Given the description of an element on the screen output the (x, y) to click on. 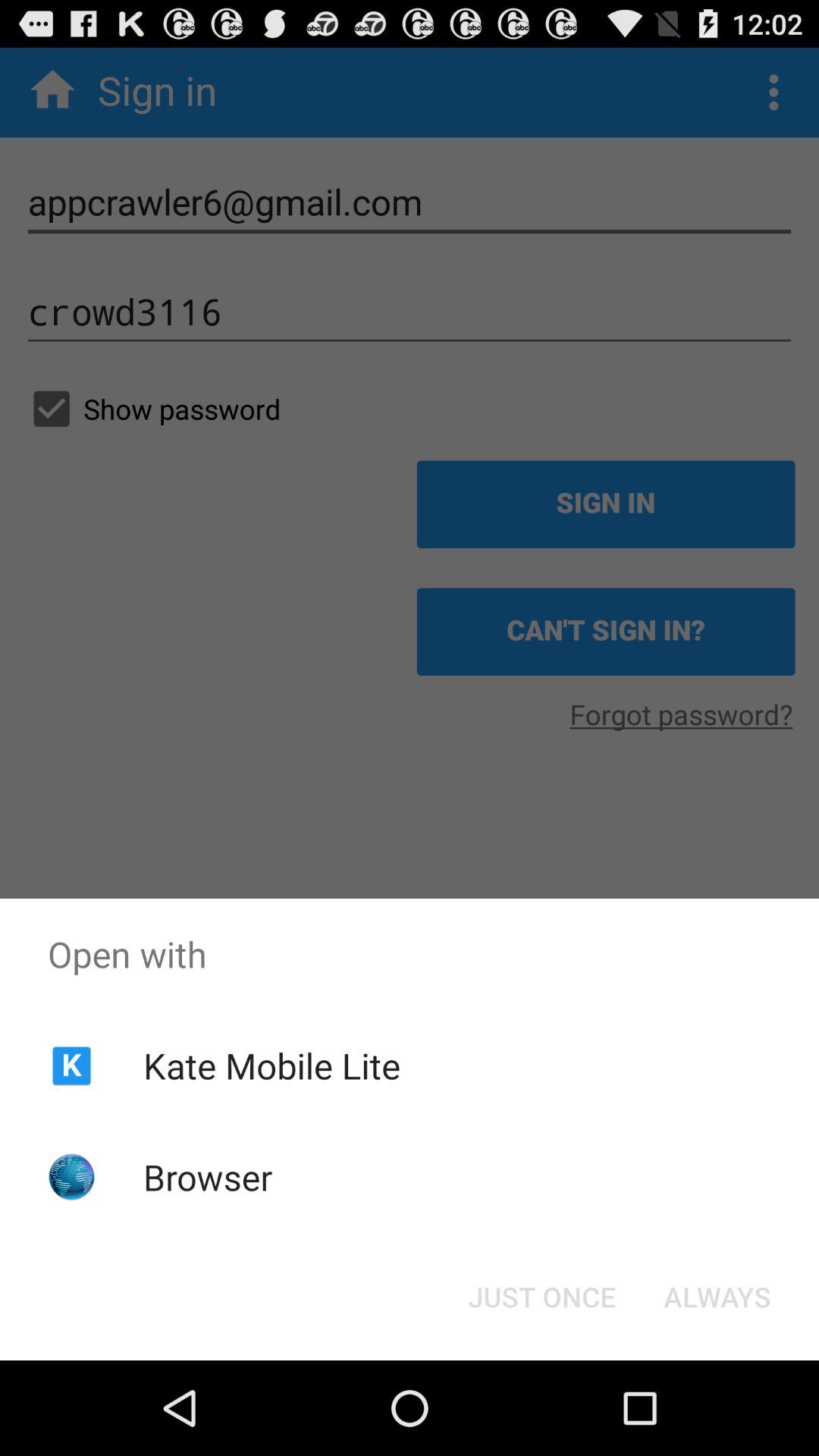
choose the icon to the left of always icon (541, 1296)
